Given the description of an element on the screen output the (x, y) to click on. 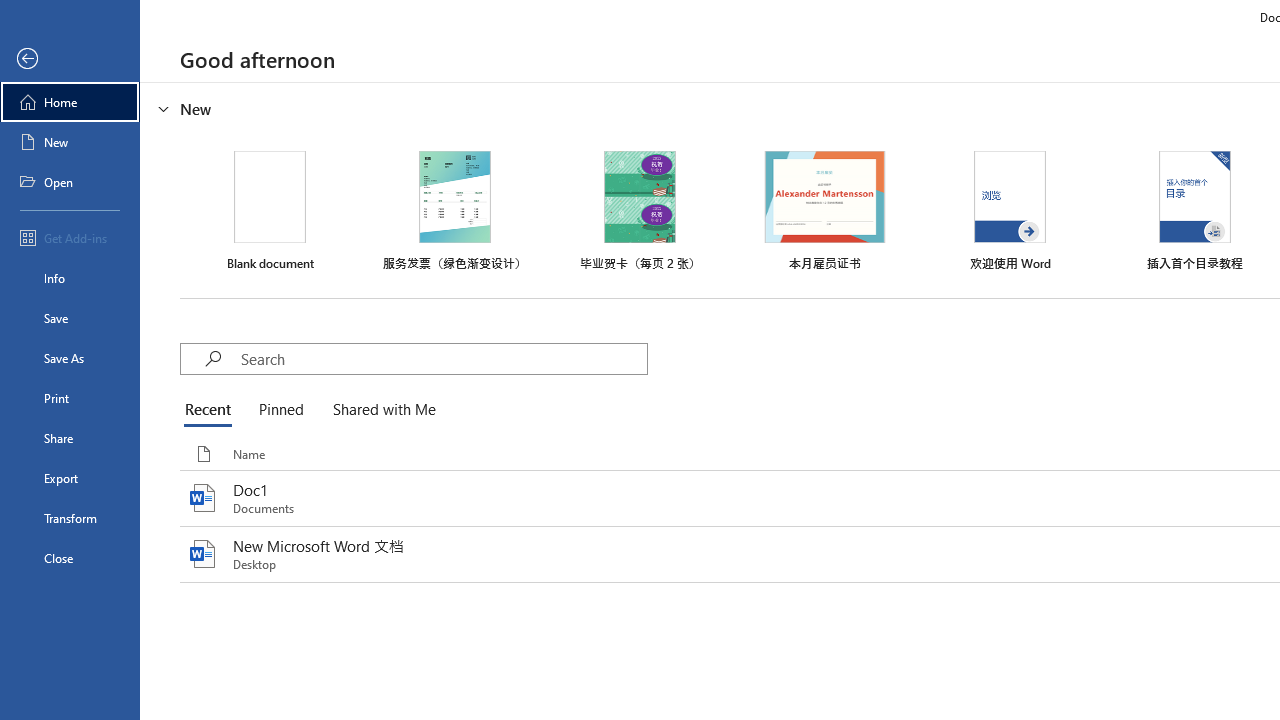
Open (69, 182)
Recent (212, 410)
New (69, 141)
Print (69, 398)
Info (69, 277)
Pinned (280, 410)
Export (69, 477)
Save As (69, 357)
Blank document (269, 211)
Close (69, 557)
System (10, 11)
